Given the description of an element on the screen output the (x, y) to click on. 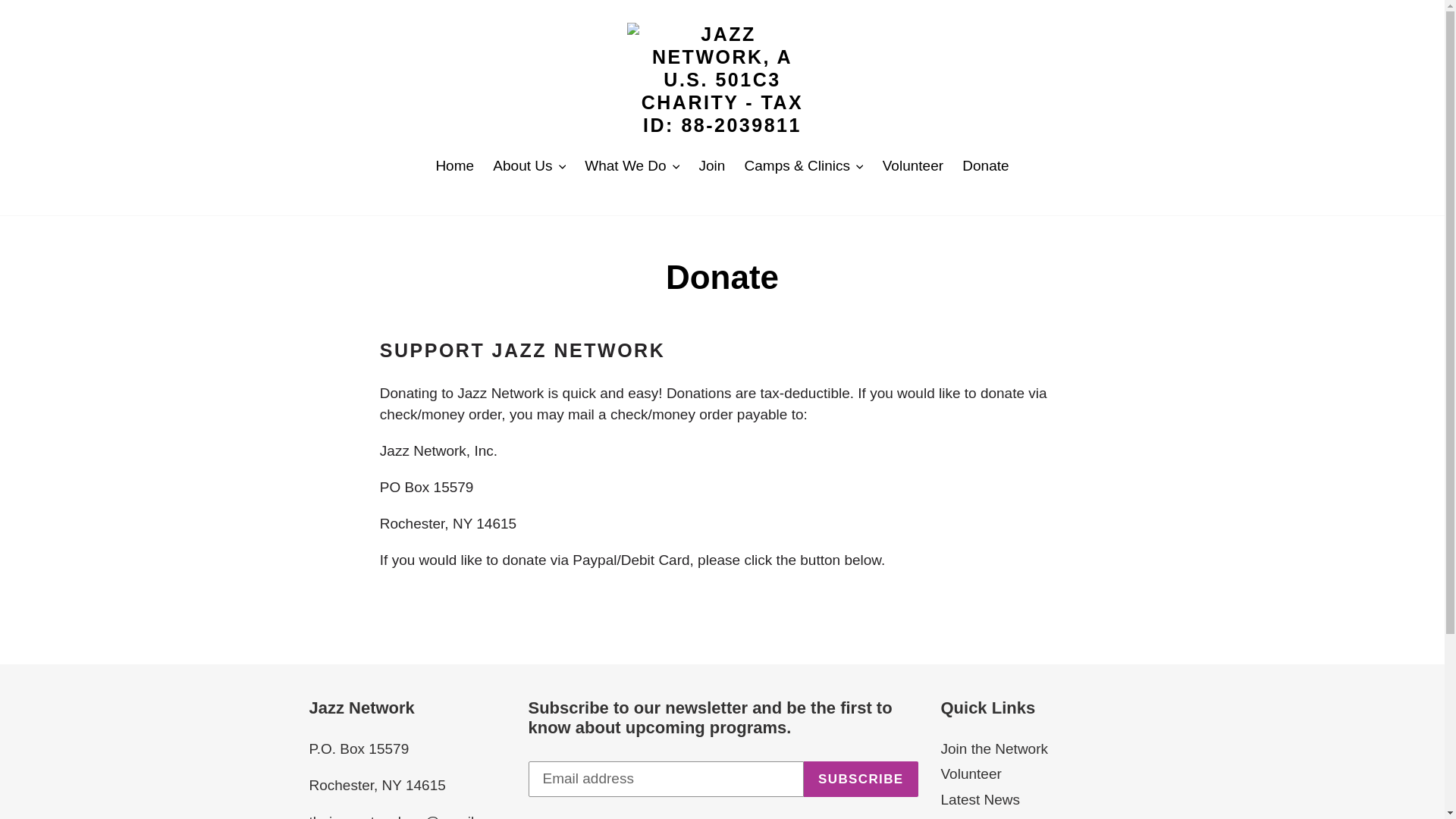
Join (711, 167)
Home (454, 167)
What We Do (631, 167)
About Us (528, 167)
